Given the description of an element on the screen output the (x, y) to click on. 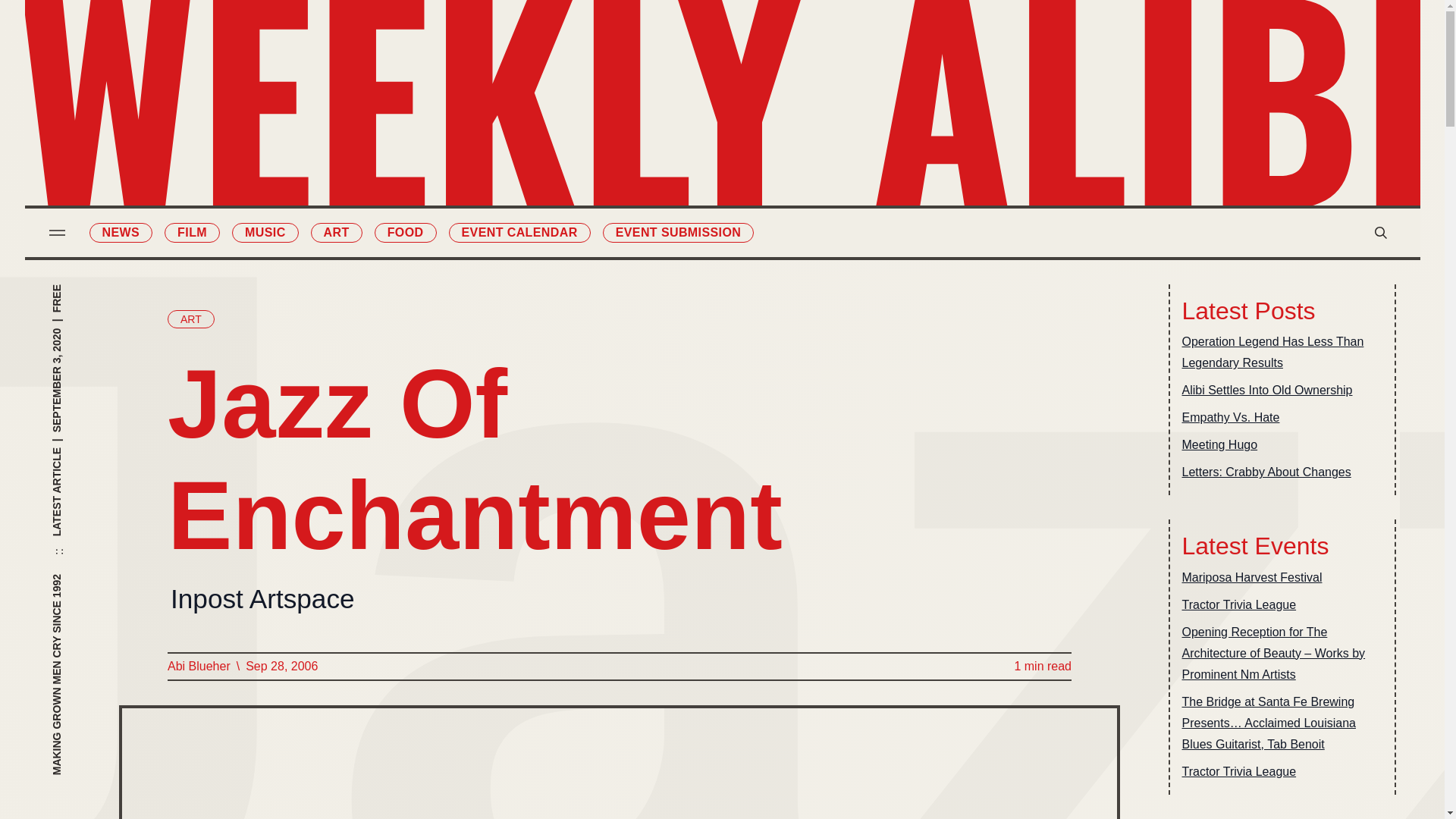
ART (190, 319)
FOOD (640, 178)
EVENT SUBMISSION (678, 232)
ART (336, 232)
MUSIC (640, 115)
EVENT CALENDAR (519, 232)
BUSINESS (803, 115)
FILM (191, 232)
BOOK REVIEWS (803, 83)
EVENT SUBMISSION (803, 178)
FILM (640, 83)
FOOD (405, 232)
NEWS (120, 232)
EVENTS (803, 147)
CANNABIS (640, 210)
